Given the description of an element on the screen output the (x, y) to click on. 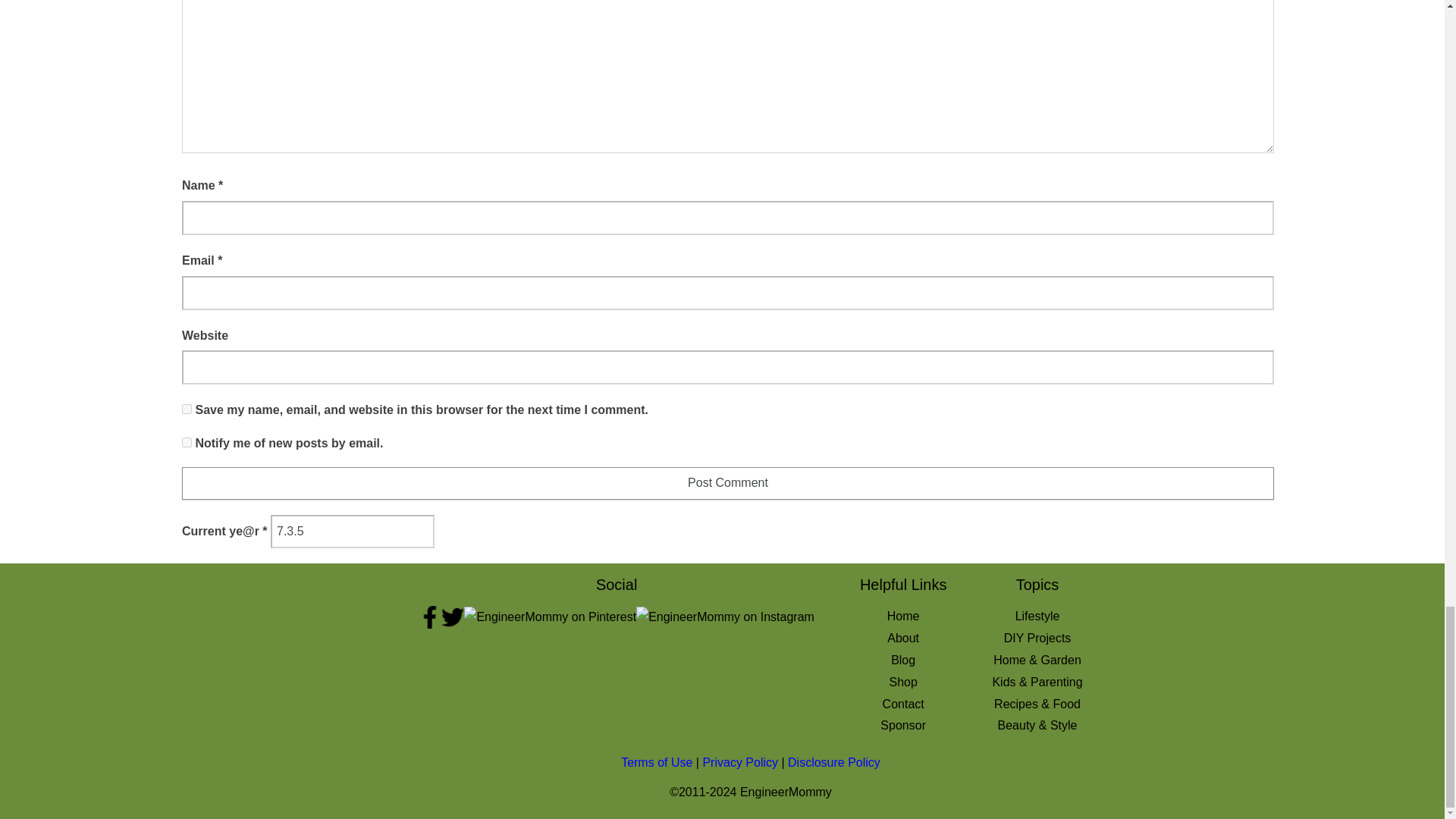
yes (187, 409)
7.3.5 (351, 531)
Post Comment (728, 482)
subscribe (187, 442)
